Given the description of an element on the screen output the (x, y) to click on. 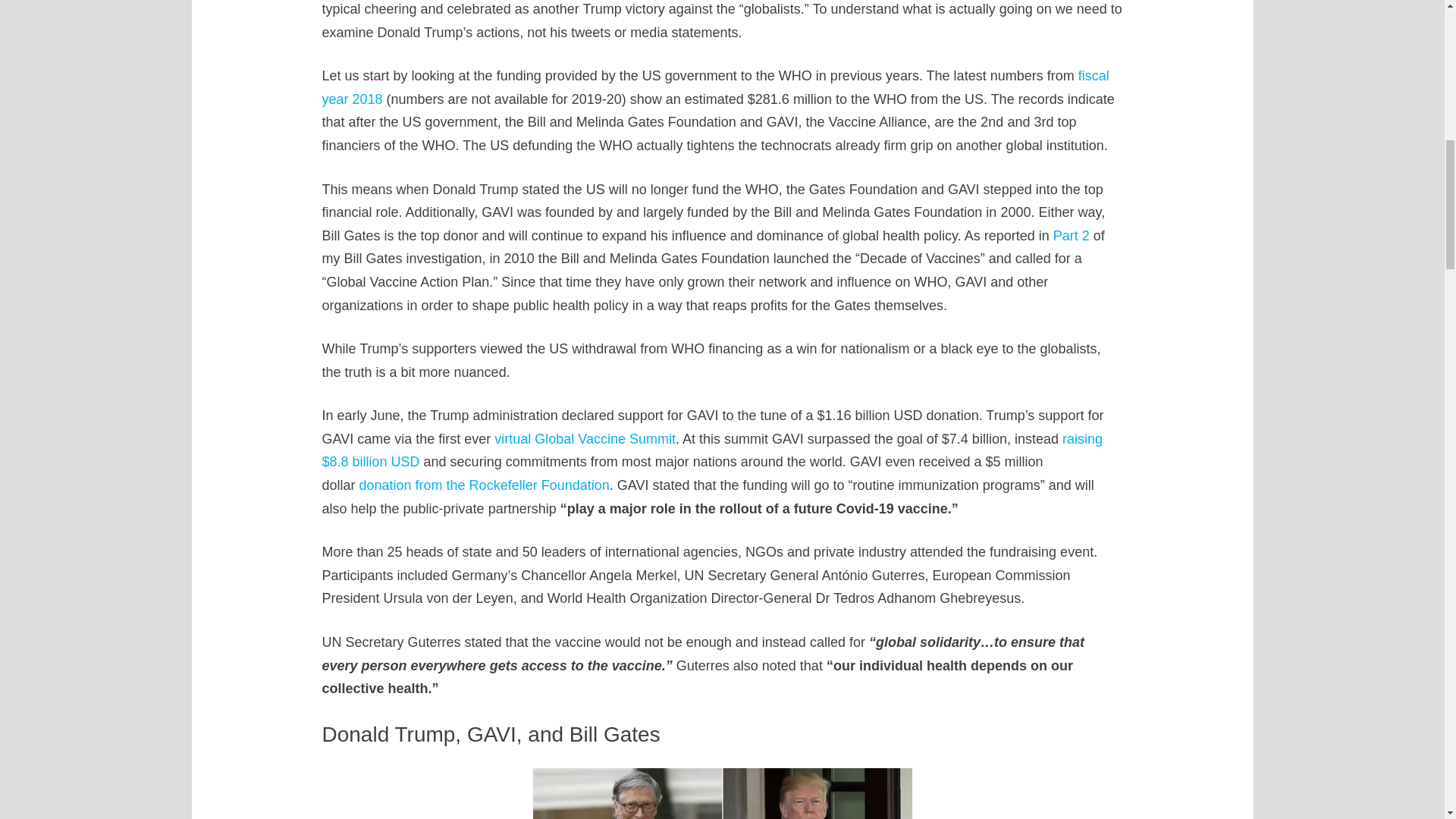
fiscal year 2018 (714, 87)
virtual Global Vaccine Summit (585, 438)
Part 2 (1070, 235)
